Given the description of an element on the screen output the (x, y) to click on. 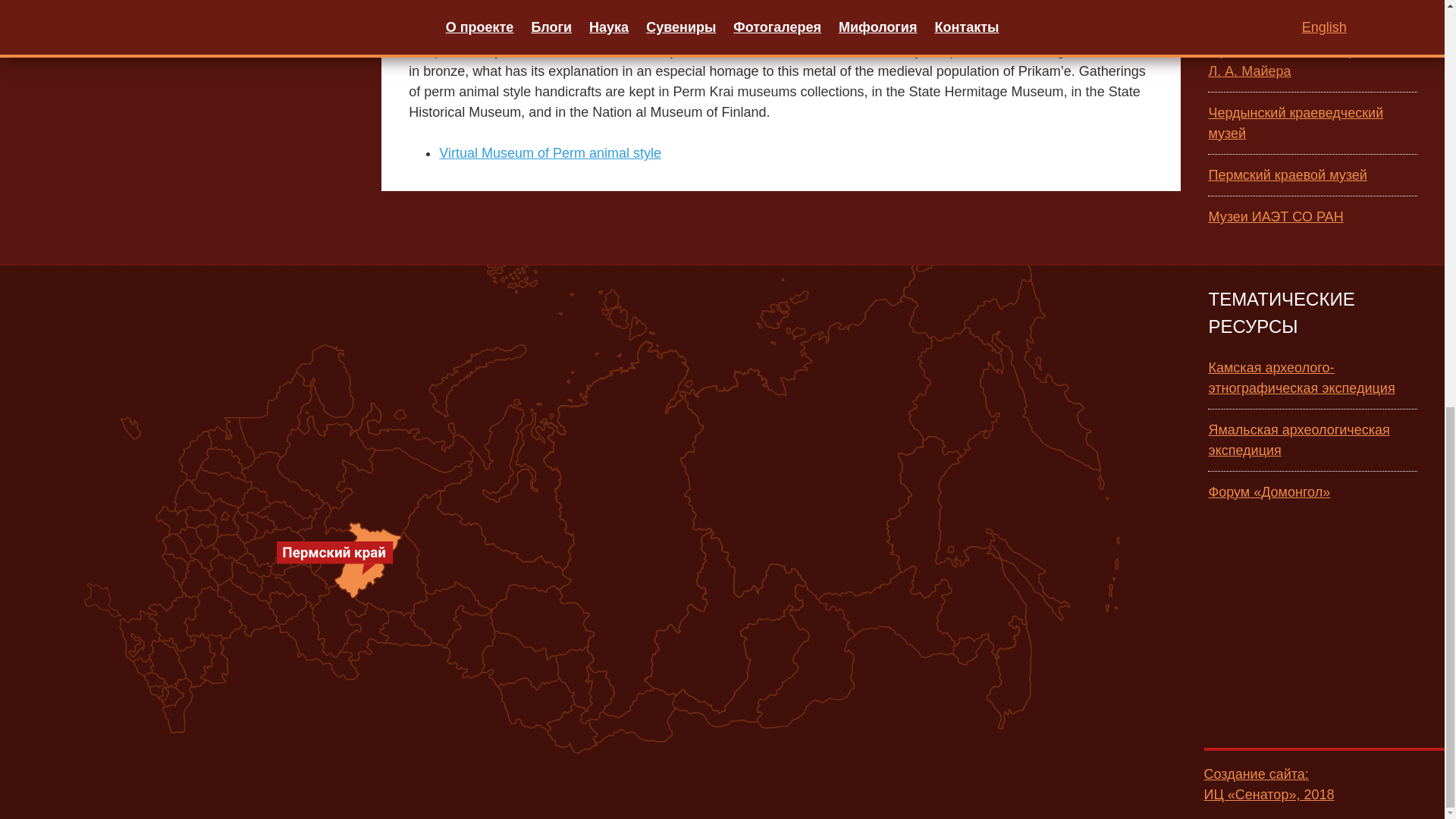
Virtual Museum of Perm animal style. (550, 152)
Virtual Museum of Perm animal style (550, 152)
